Given the description of an element on the screen output the (x, y) to click on. 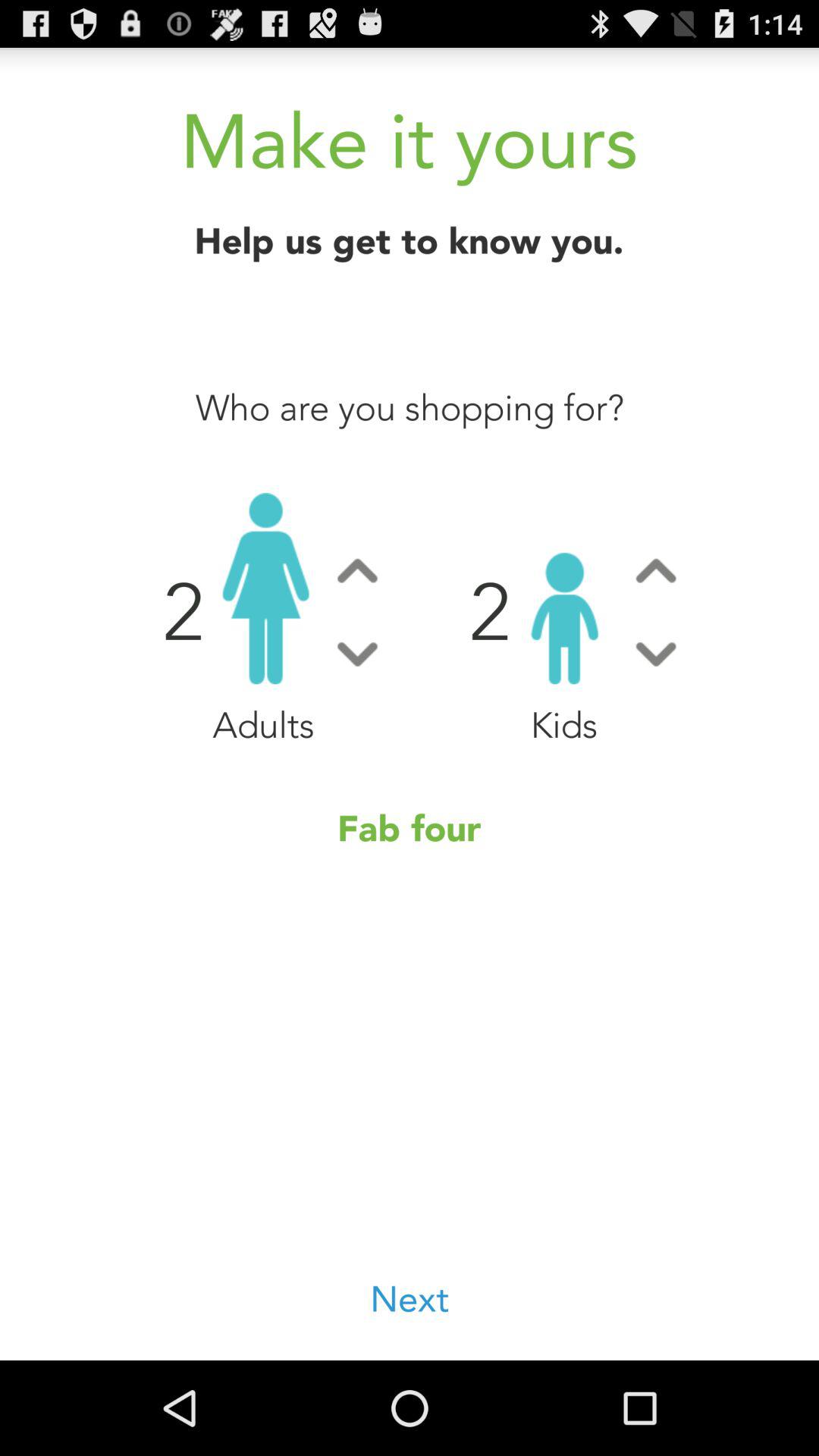
press the icon at the bottom (409, 1300)
